Given the description of an element on the screen output the (x, y) to click on. 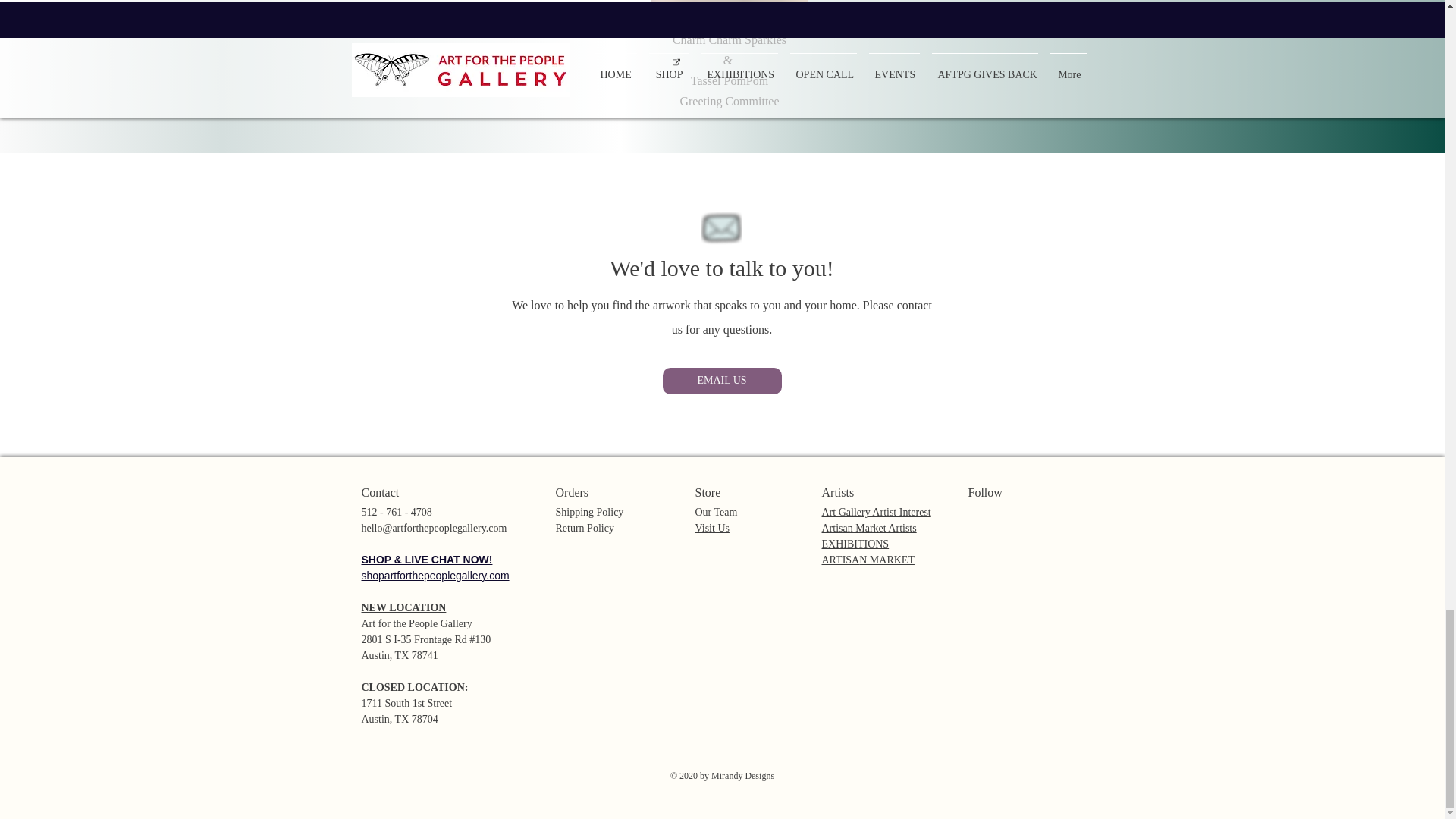
shopartforthepeoplegallery.com (434, 575)
Return Policy (583, 527)
Shipping Policy (588, 511)
Artisan Market Artists (869, 527)
ARTISAN MARKET (868, 559)
EMAIL US (721, 380)
EXHIBITIONS (855, 543)
Art Gallery Artist Interest (876, 511)
Our Team (715, 511)
Visit Us (711, 527)
